Given the description of an element on the screen output the (x, y) to click on. 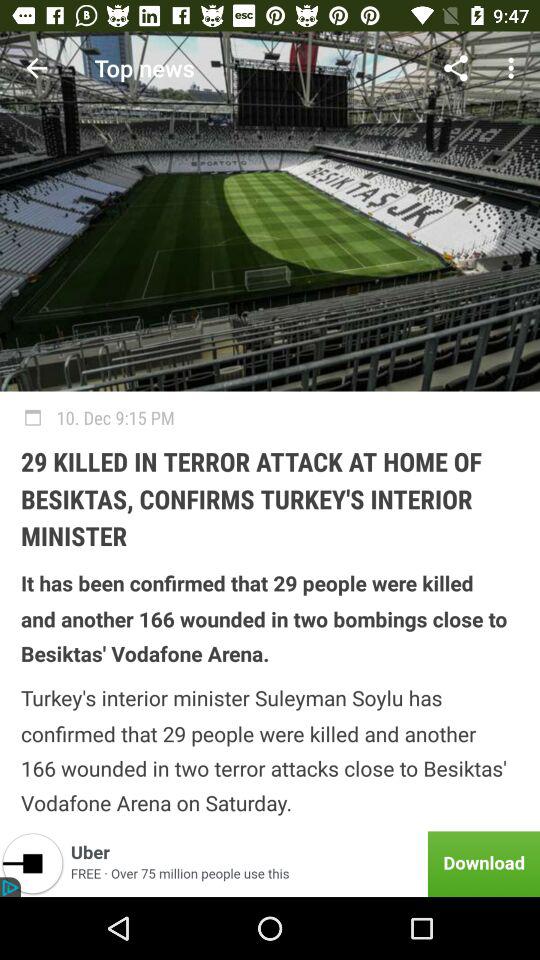
tap the icon next to the top news icon (36, 68)
